Given the description of an element on the screen output the (x, y) to click on. 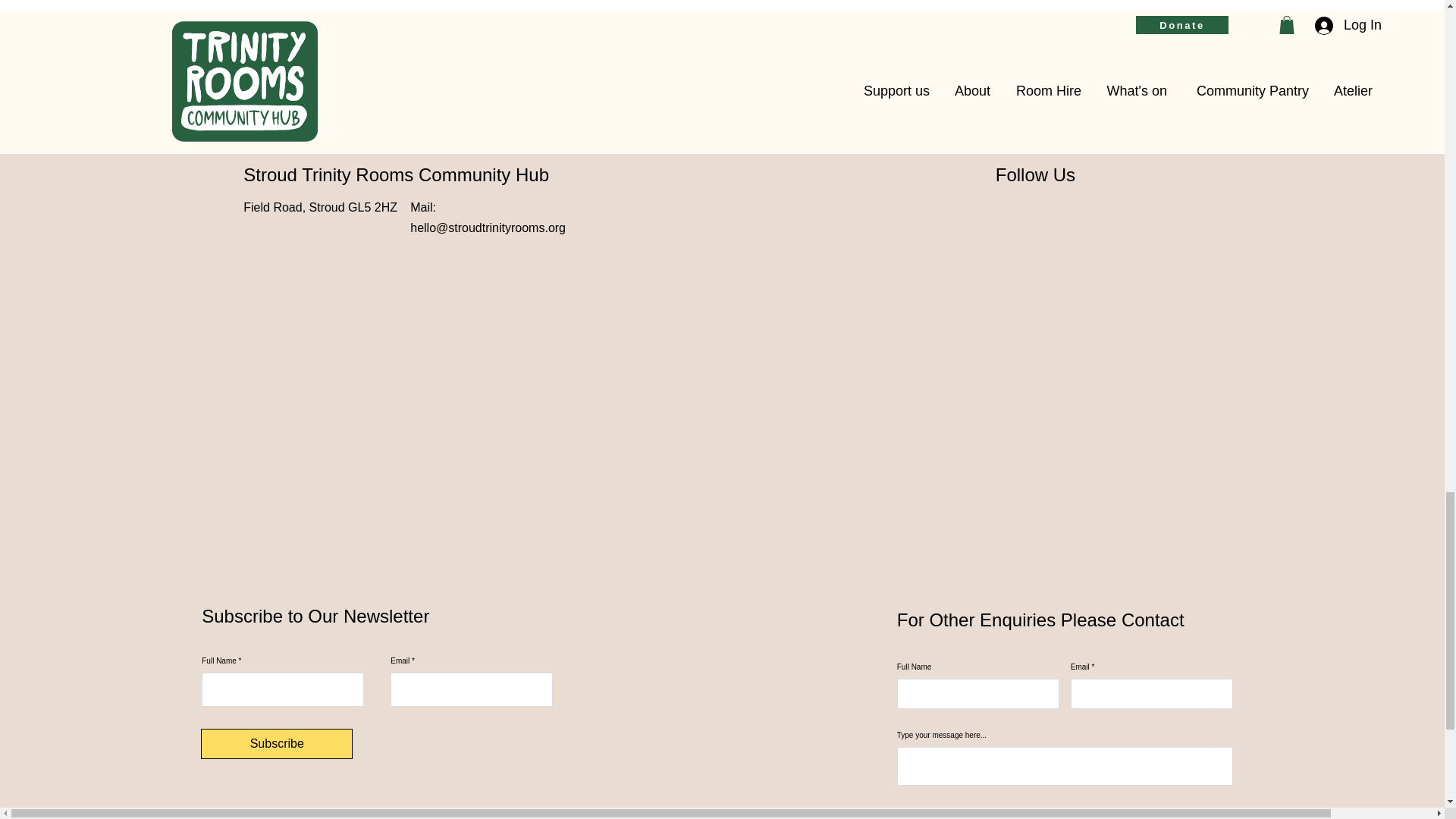
Stroud Trinity Rooms Community Hub (395, 174)
Subscribe (276, 743)
Submit (972, 816)
